Given the description of an element on the screen output the (x, y) to click on. 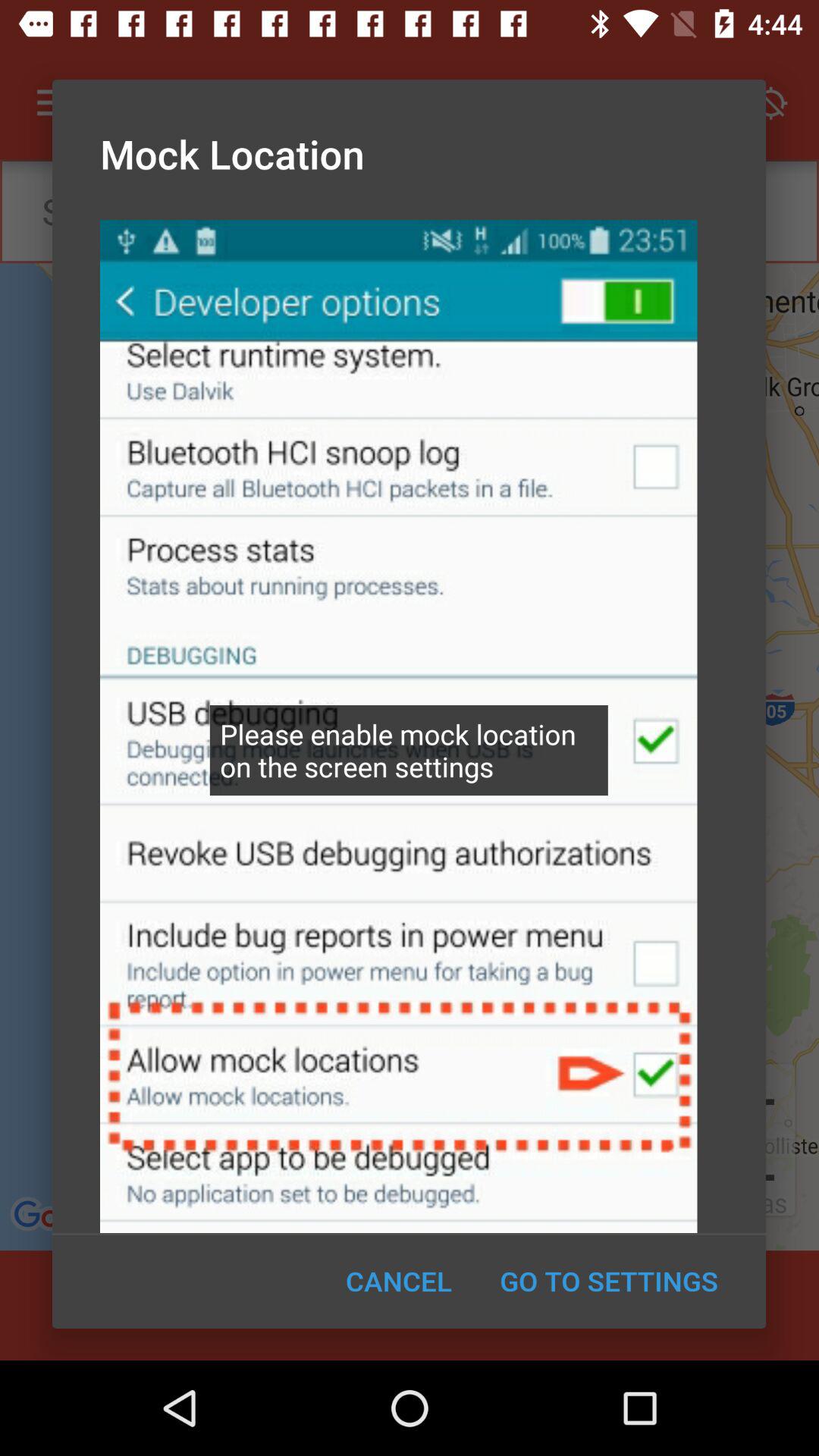
tap the cancel (398, 1280)
